Given the description of an element on the screen output the (x, y) to click on. 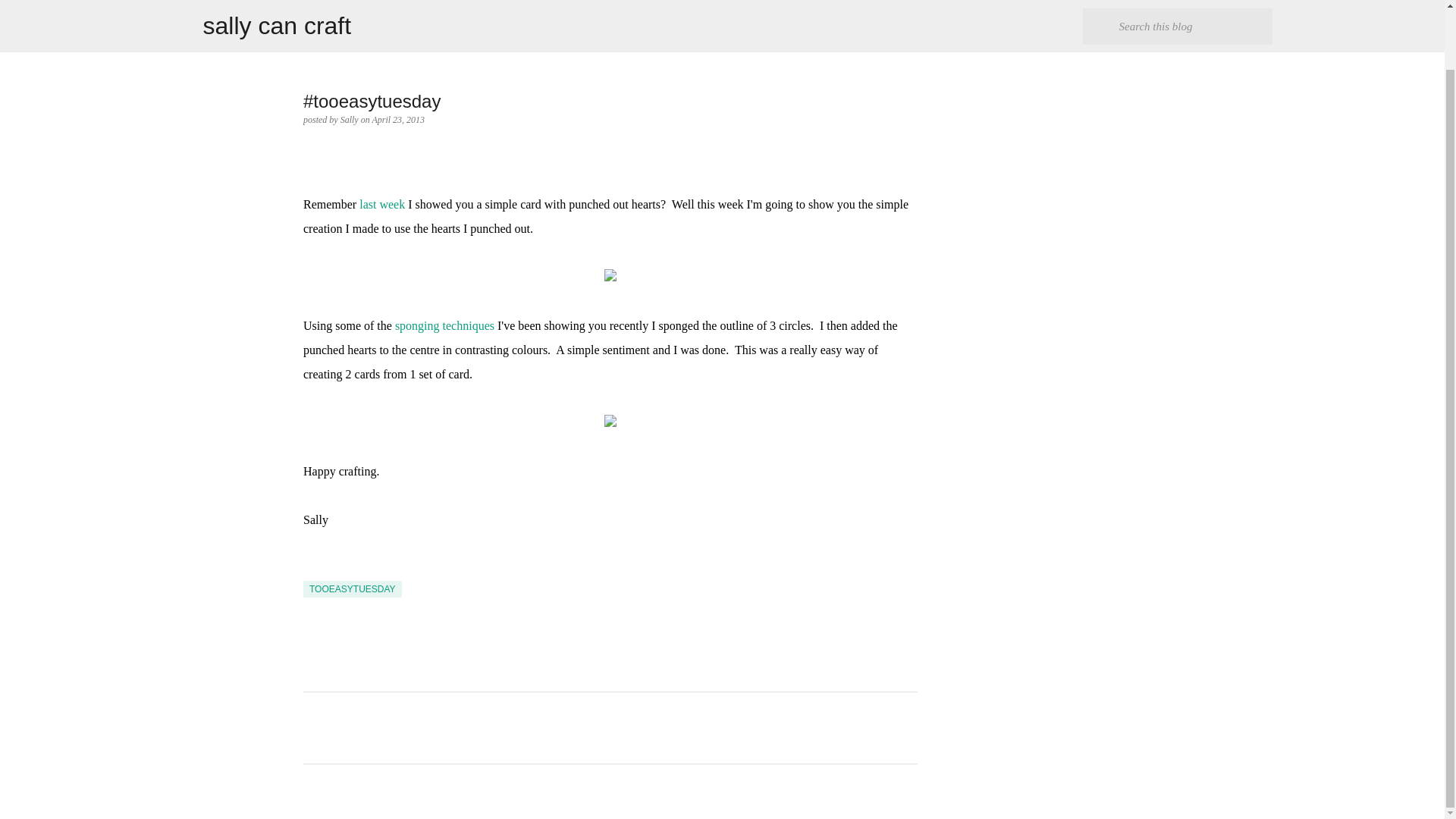
April 23, 2013 (398, 119)
Email Post (311, 571)
Sally (350, 119)
TOOEASYTUESDAY (351, 588)
sponging techniques (444, 325)
author profile (350, 119)
permanent link (398, 119)
last week (381, 204)
